Given the description of an element on the screen output the (x, y) to click on. 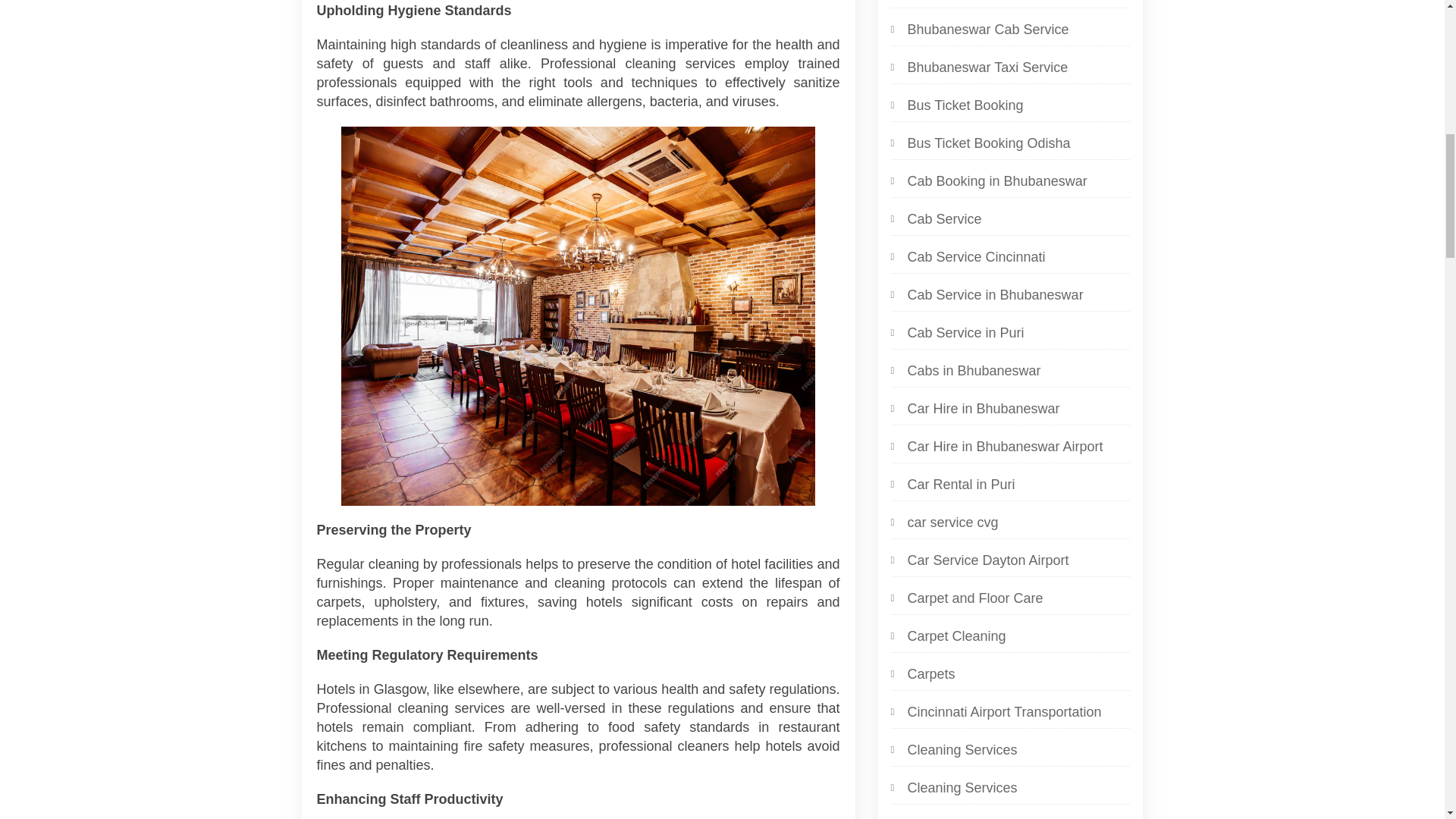
Bus Ticket Booking (956, 105)
Bhubaneswar Cab Service (978, 29)
Bhubaneswar Taxi Service (978, 67)
Bhubaneswar Airport Car Rental (995, 2)
